Given the description of an element on the screen output the (x, y) to click on. 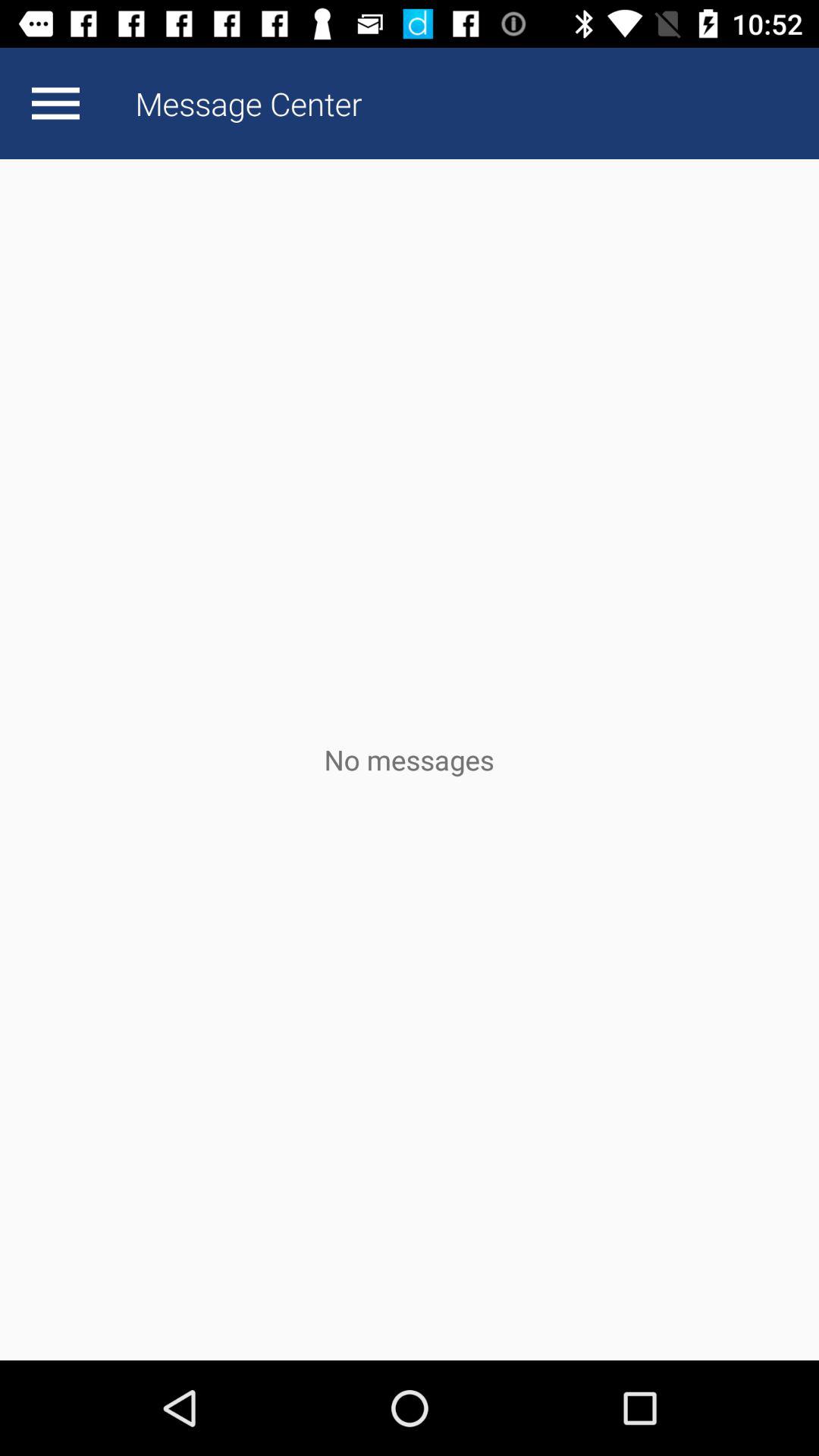
click for dropdown box (55, 103)
